Given the description of an element on the screen output the (x, y) to click on. 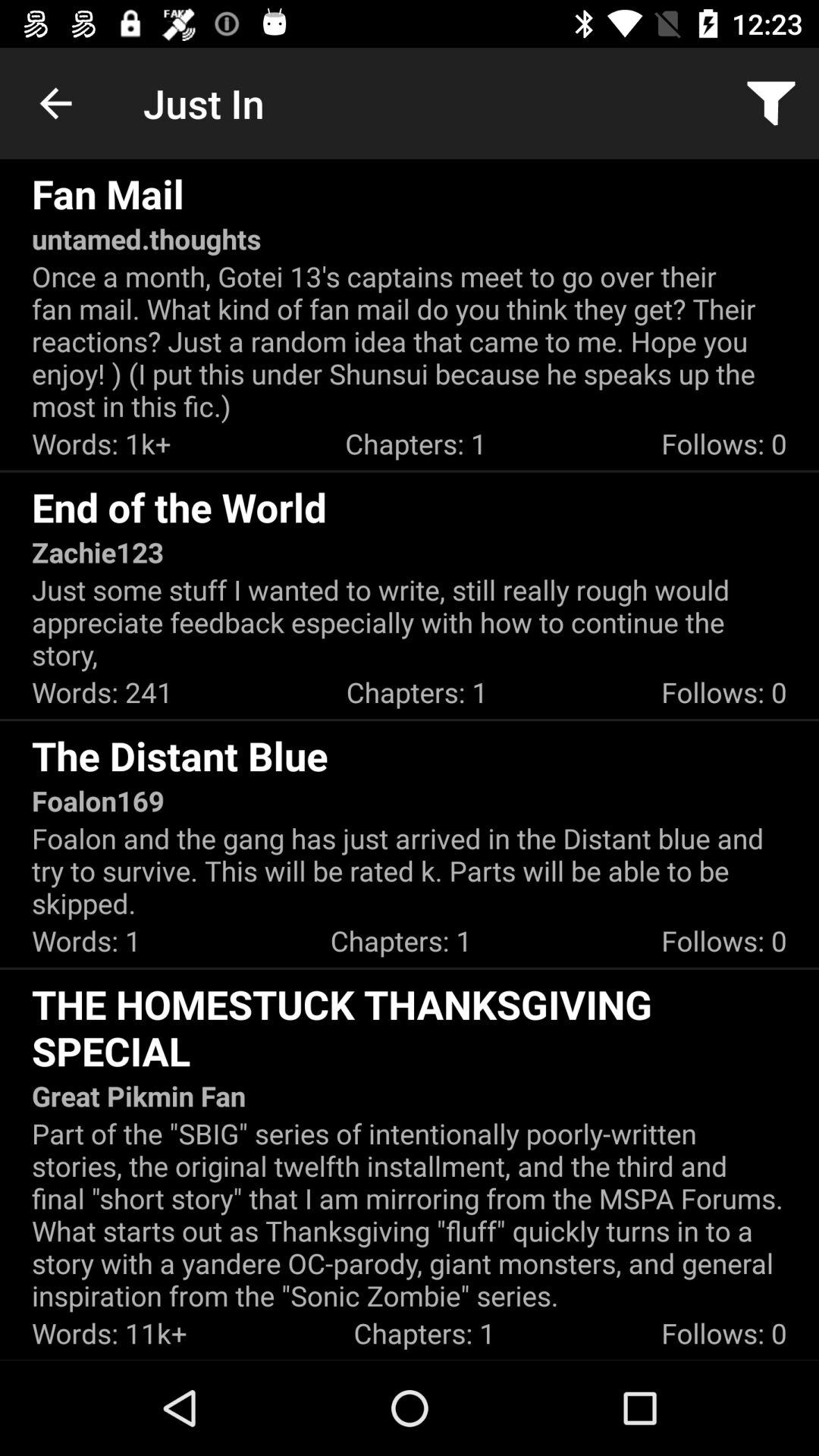
launch icon below zachie123 (409, 622)
